Given the description of an element on the screen output the (x, y) to click on. 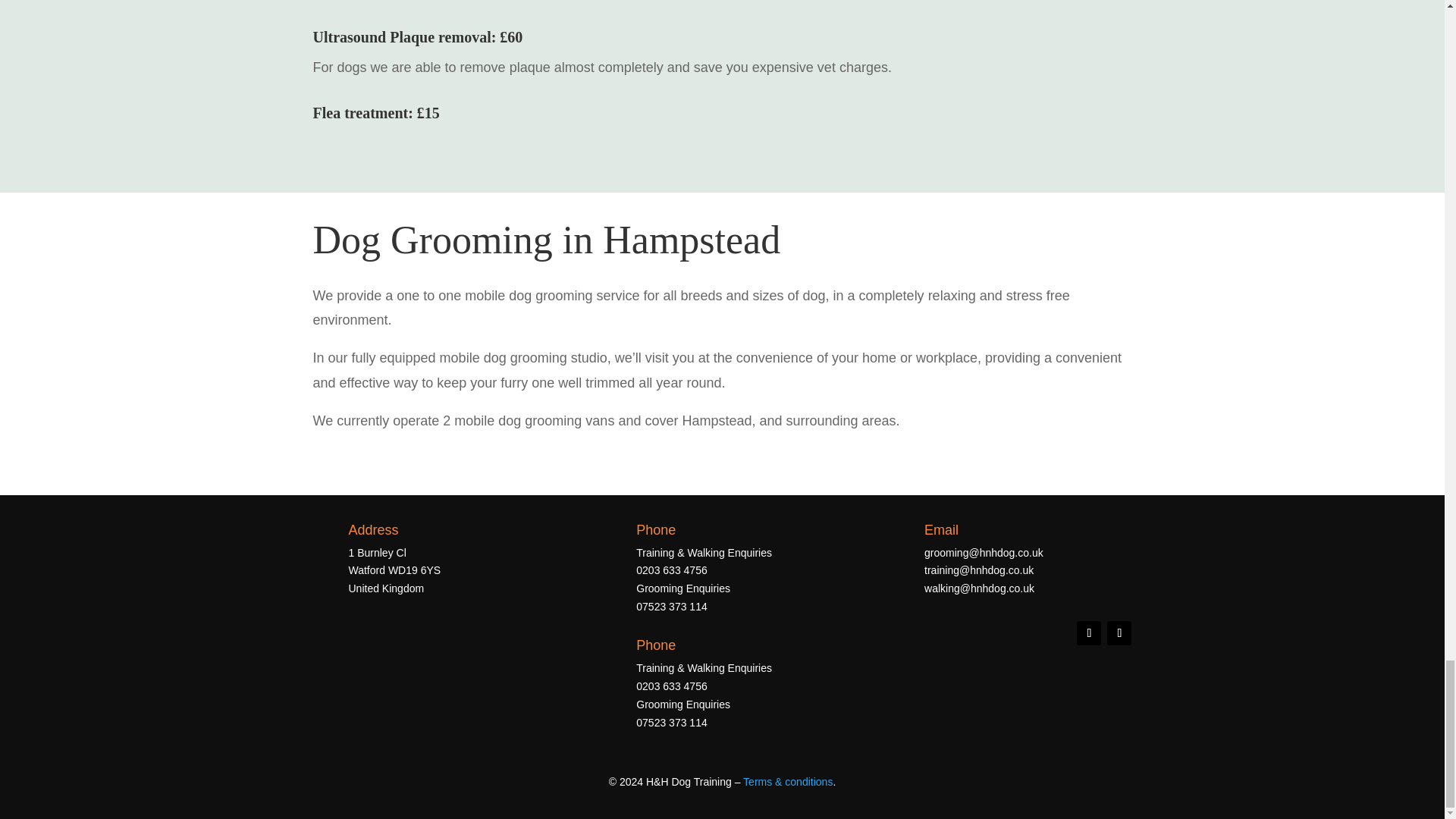
Follow on Instagram (1118, 632)
Follow on Facebook (1088, 632)
